Given the description of an element on the screen output the (x, y) to click on. 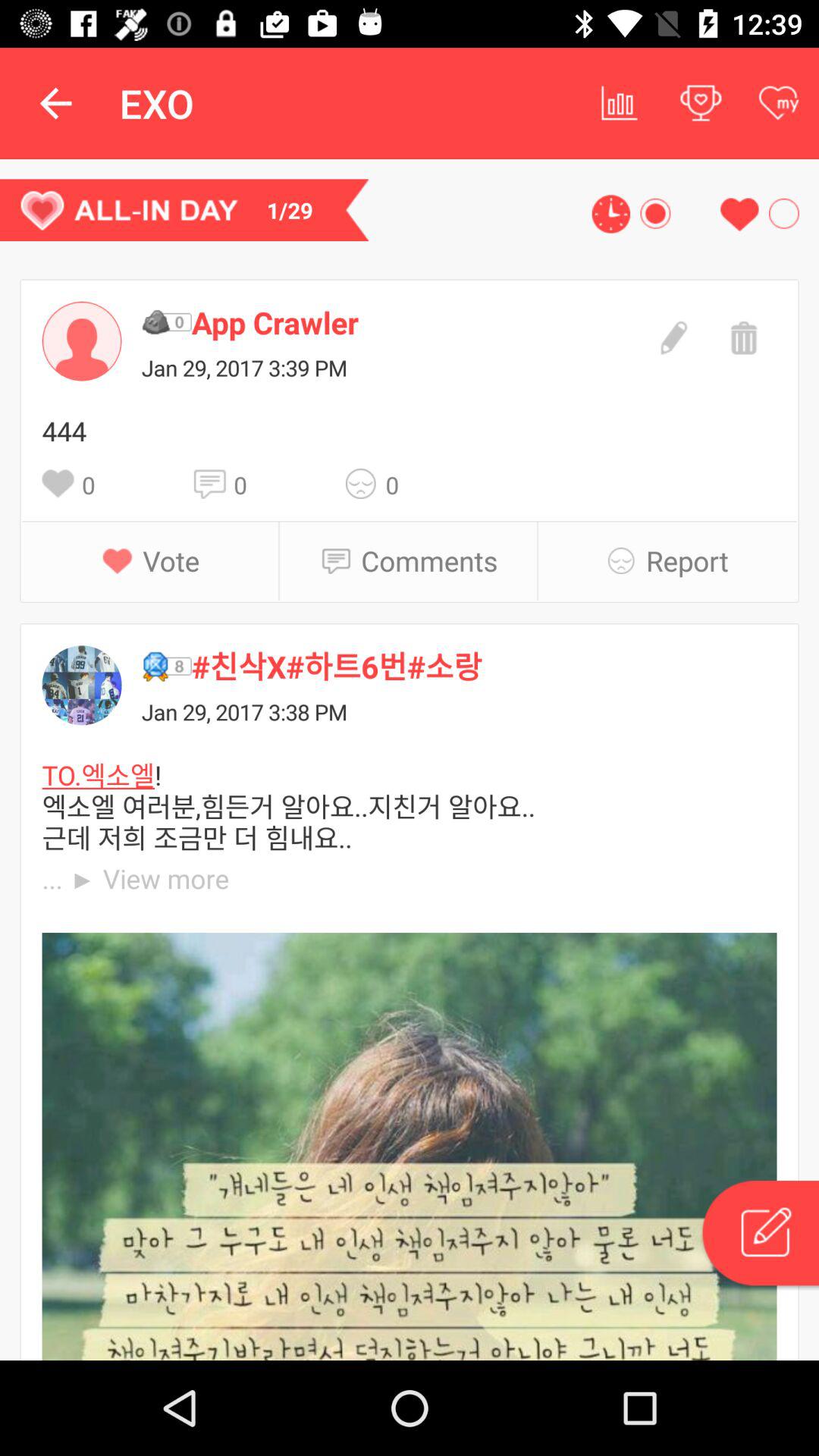
profile pick (81, 341)
